Given the description of an element on the screen output the (x, y) to click on. 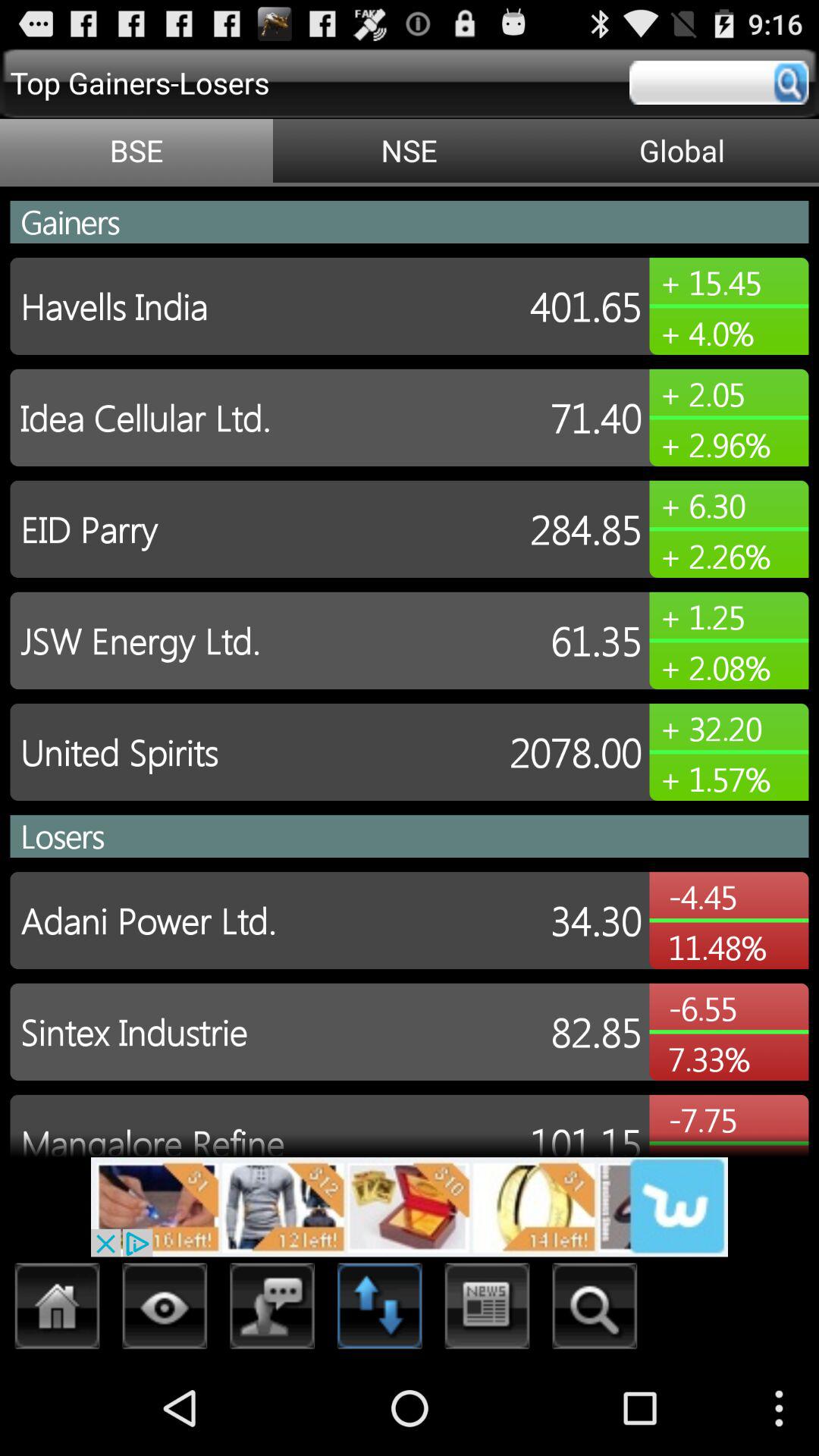
glt (57, 1310)
